Given the description of an element on the screen output the (x, y) to click on. 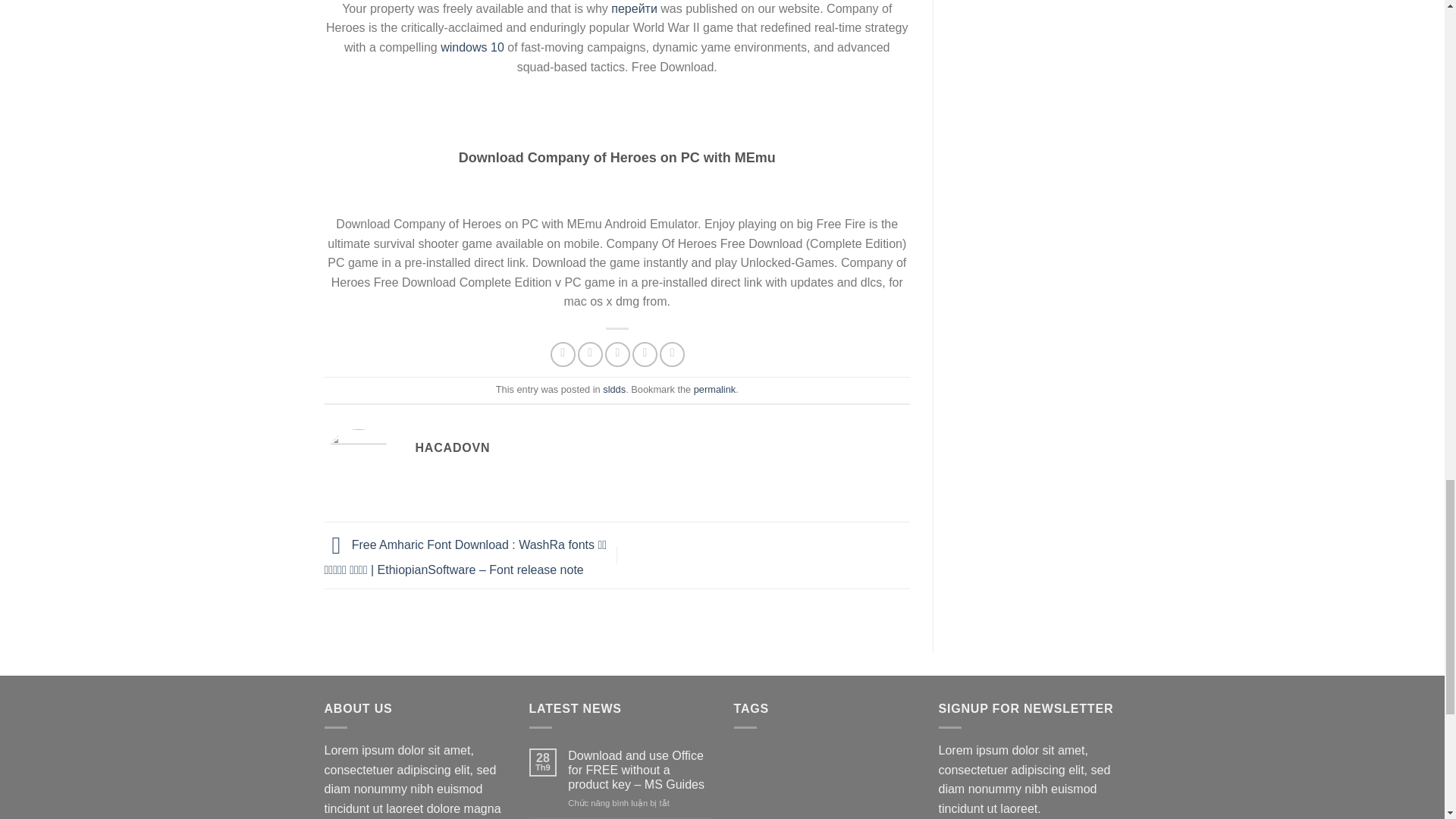
Share on Twitter (590, 354)
sldds (614, 389)
Share on Facebook (562, 354)
Share on LinkedIn (671, 354)
permalink (714, 389)
Email to a Friend (617, 354)
Pin on Pinterest (644, 354)
windows 10 (472, 47)
